Given the description of an element on the screen output the (x, y) to click on. 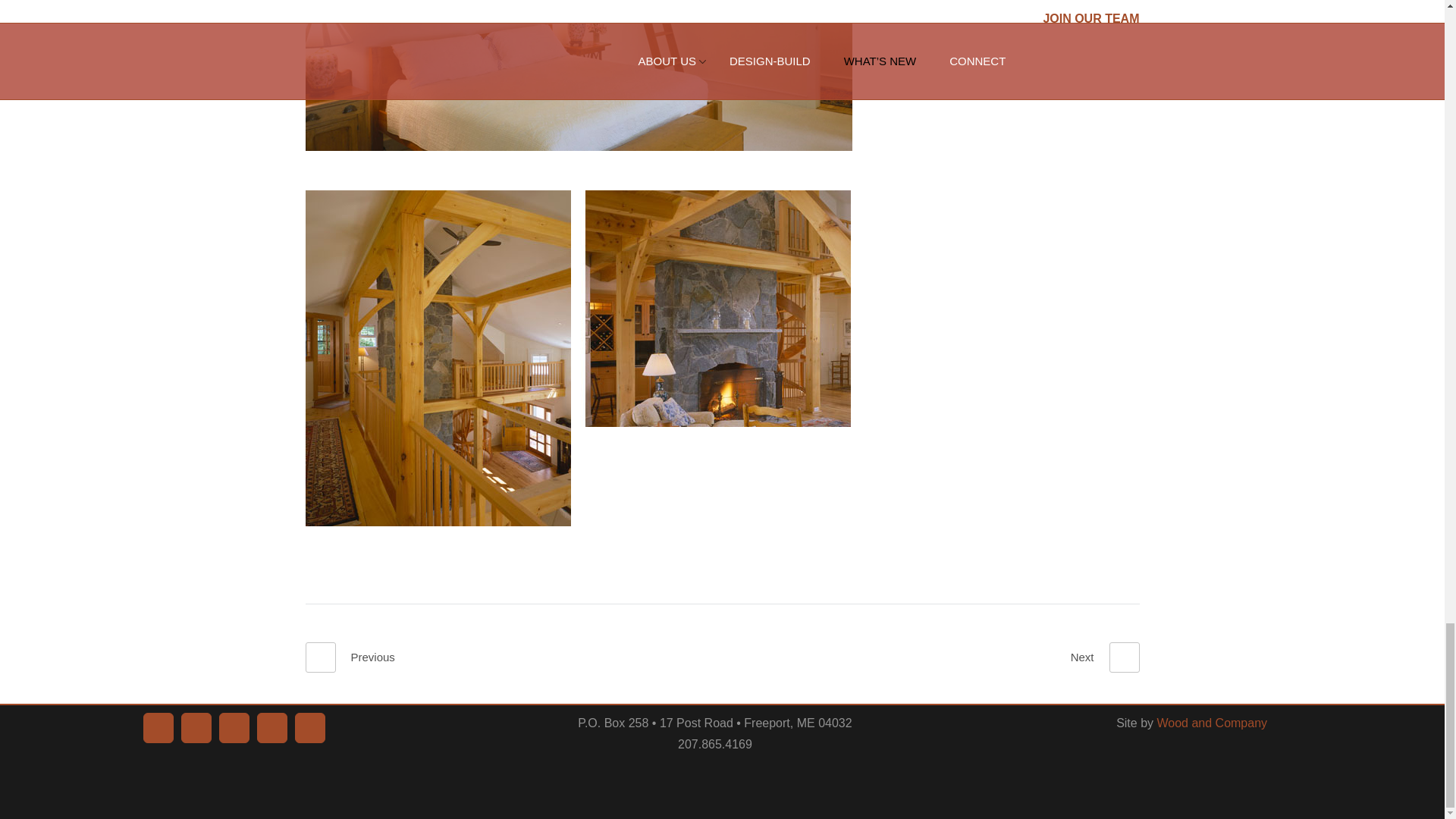
facebook (157, 727)
Next (1105, 657)
Previous (349, 657)
